Given the description of an element on the screen output the (x, y) to click on. 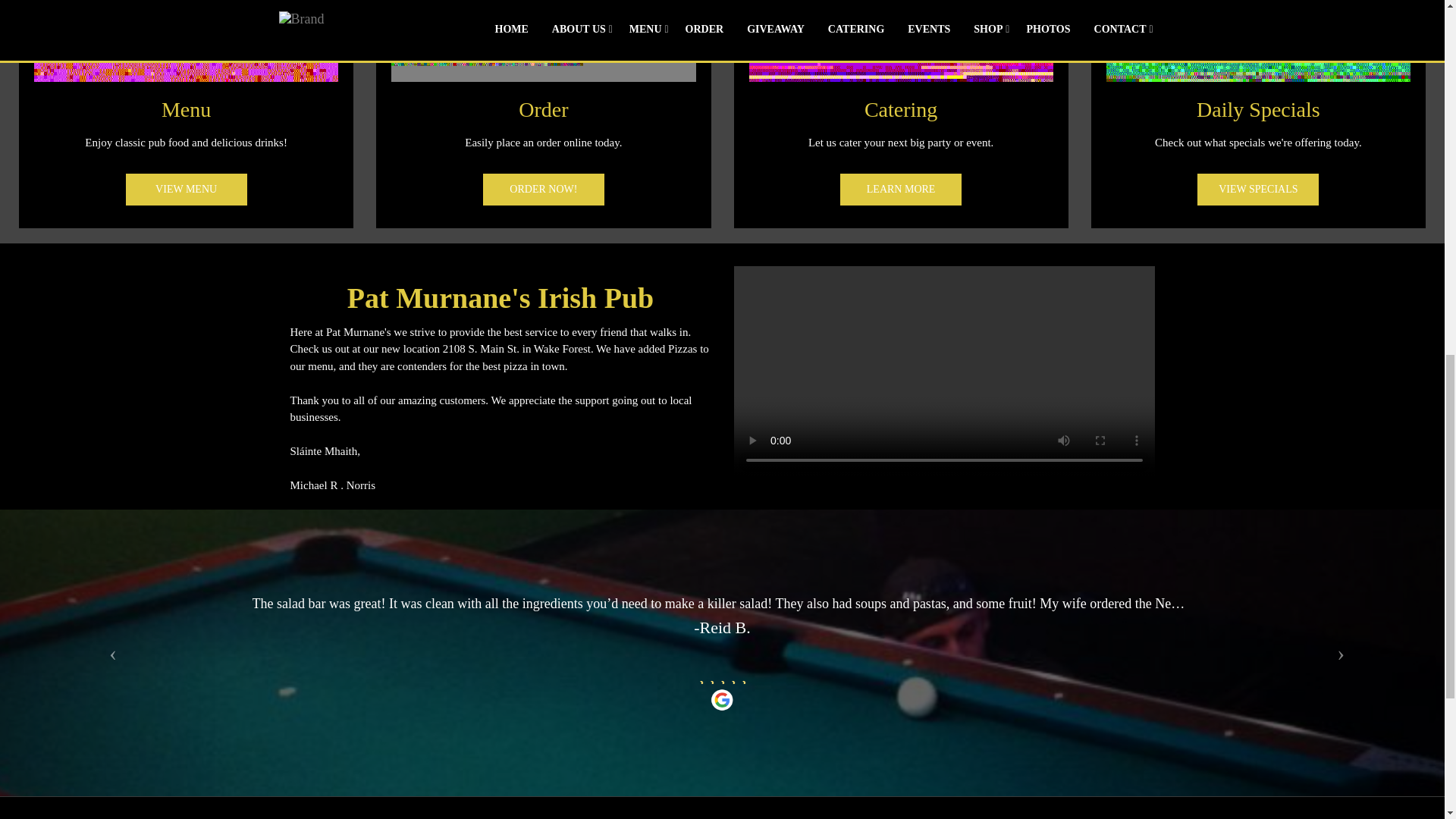
LEARN MORE (900, 189)
ORDER NOW! (543, 189)
VIEW SPECIALS (1257, 189)
VIEW MENU (186, 189)
